Given the description of an element on the screen output the (x, y) to click on. 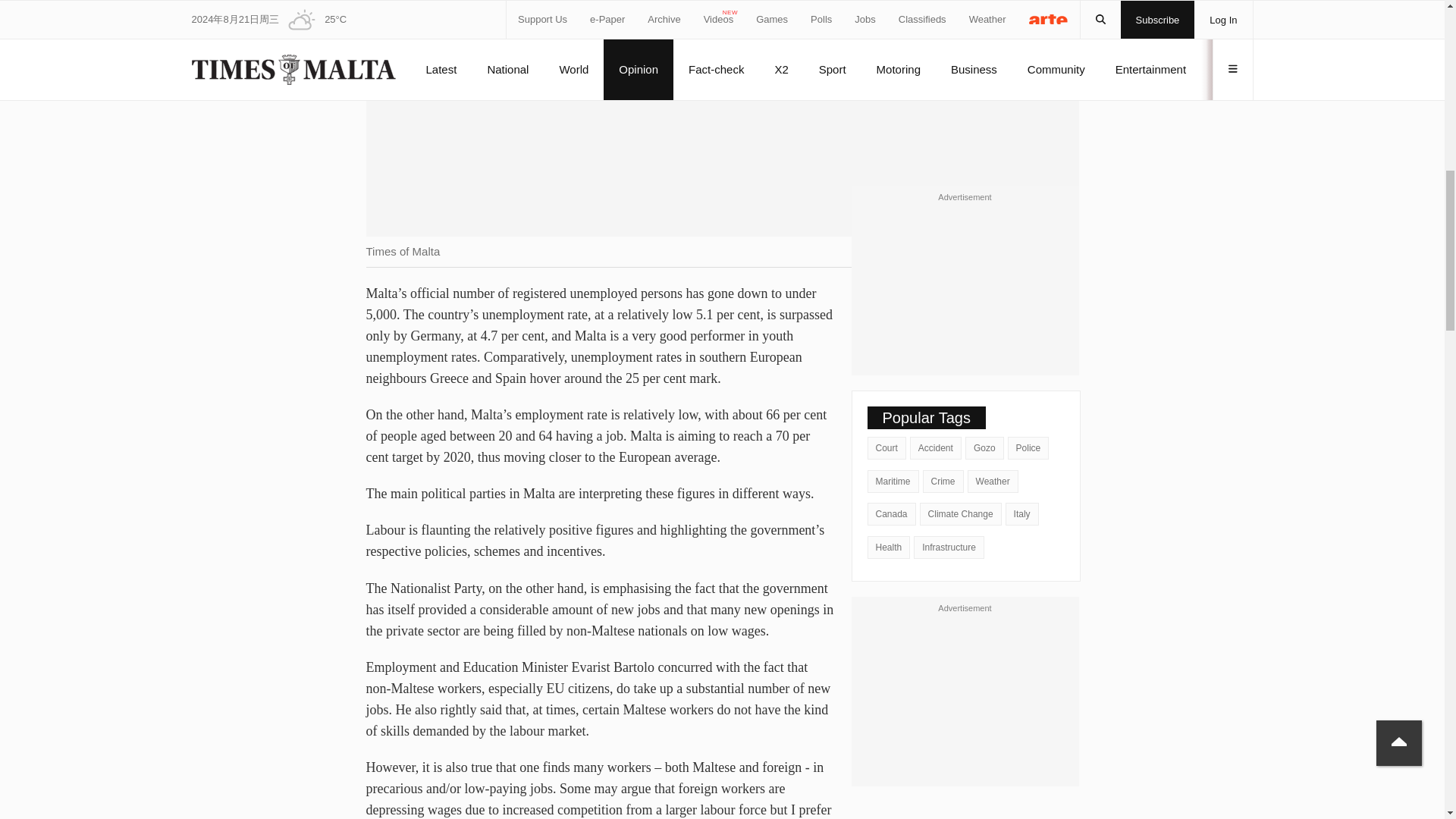
Climate Change (960, 513)
Police (1028, 447)
Court (886, 447)
Accident (935, 447)
Crime (943, 481)
Canada (891, 513)
Gozo (984, 447)
Weather (992, 481)
Maritime (892, 481)
